Given the description of an element on the screen output the (x, y) to click on. 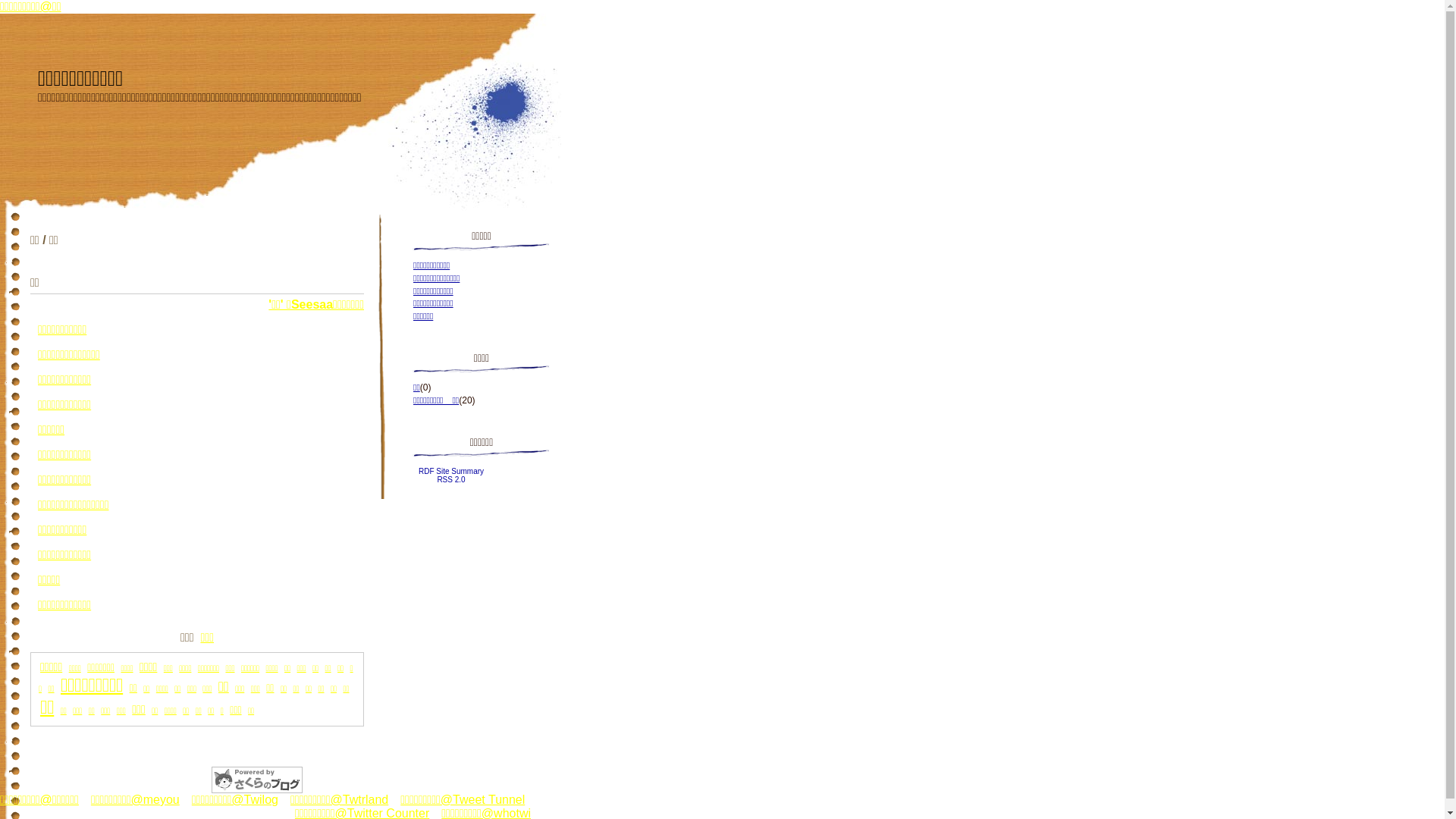
RDF Site Summary Element type: text (450, 471)
RSS 2.0 Element type: text (450, 479)
